Given the description of an element on the screen output the (x, y) to click on. 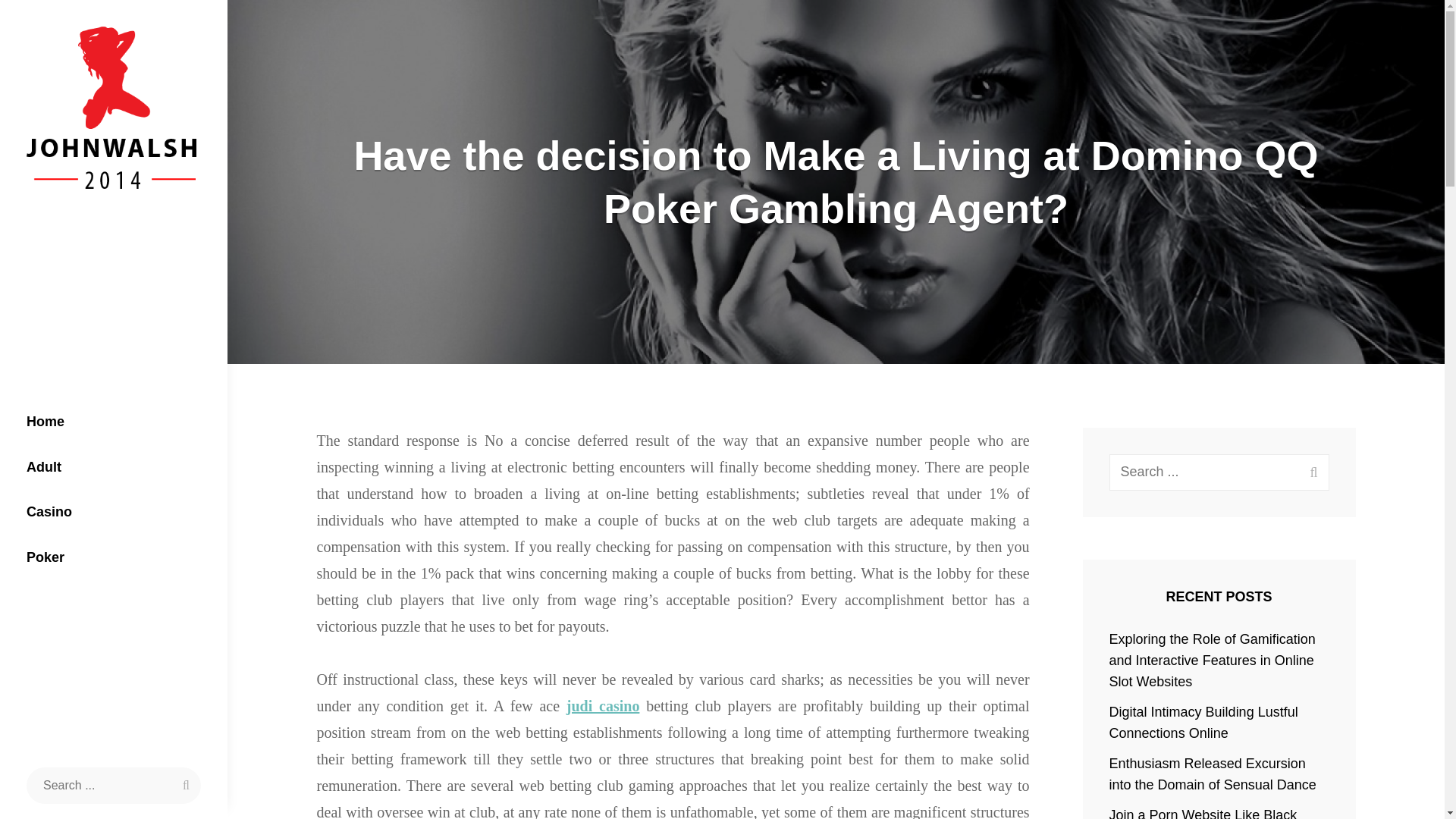
Search for: (1219, 471)
Digital Intimacy Building Lustful Connections Online (1203, 722)
Adult (113, 467)
Join a Porn Website Like Black Tgirls (1203, 813)
Poker (113, 557)
JOHNWALSH2014 (130, 216)
Casino (113, 512)
judi casino (603, 705)
Home (113, 422)
Search for: (113, 785)
